Given the description of an element on the screen output the (x, y) to click on. 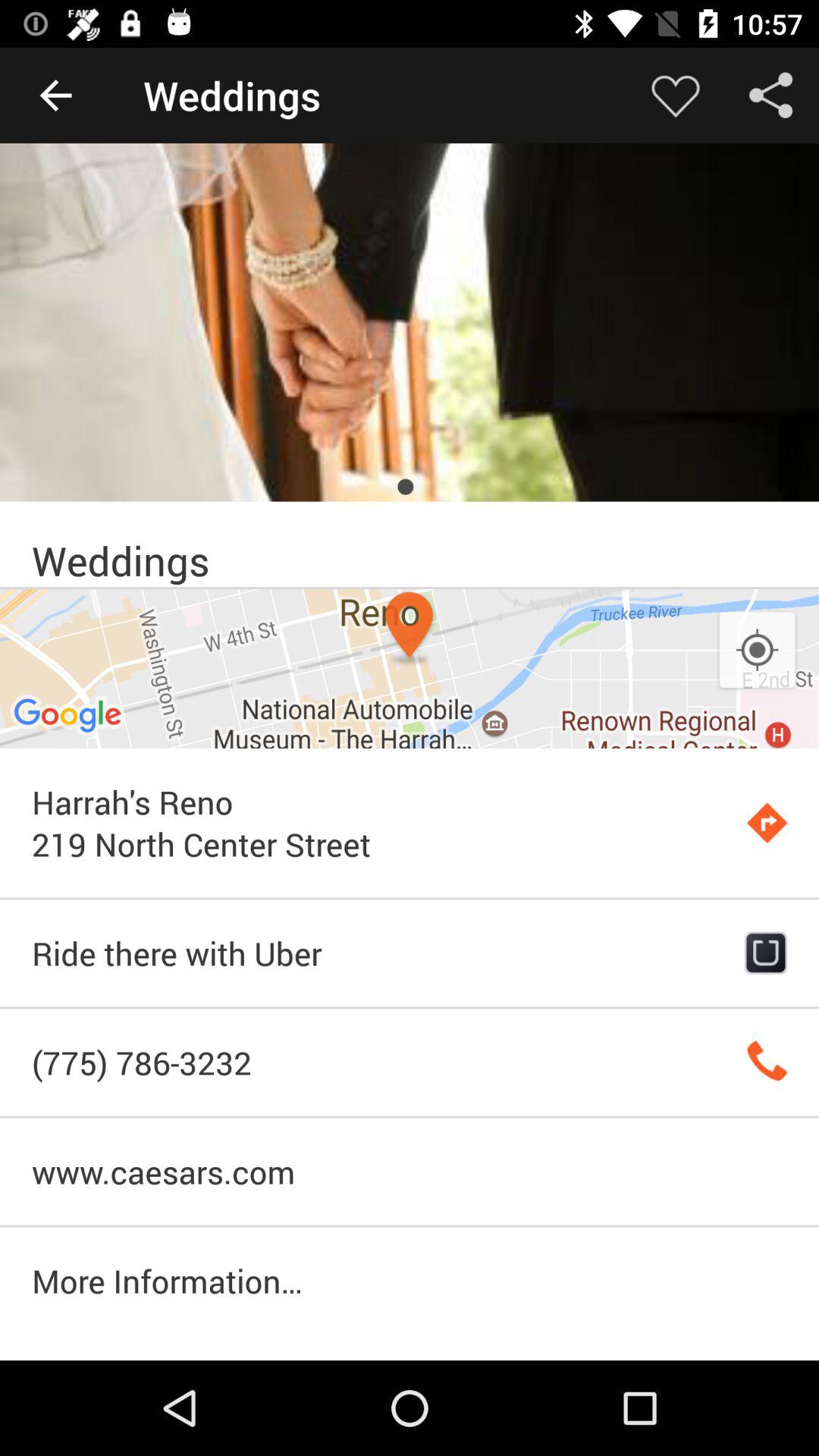
open item above the weddings (409, 322)
